Given the description of an element on the screen output the (x, y) to click on. 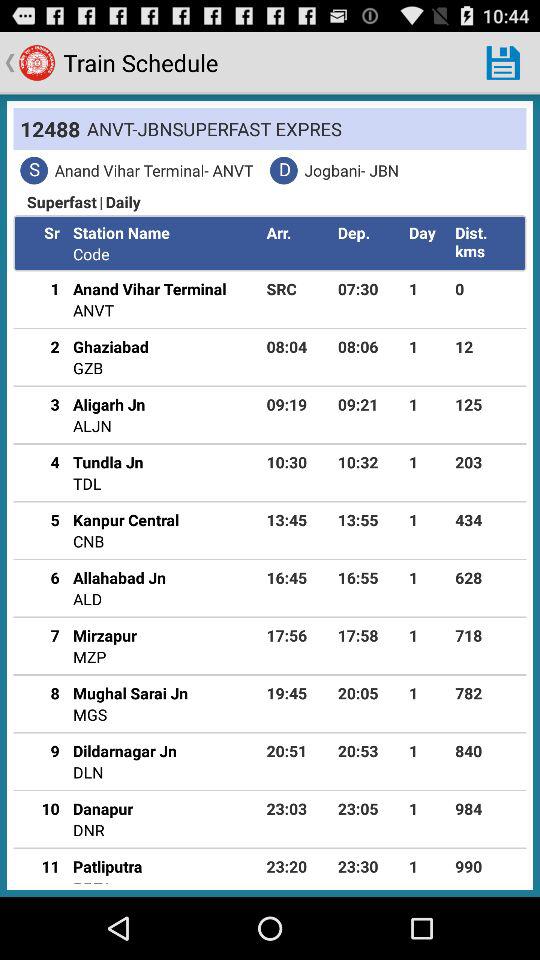
tap the item next to the 10:30 (87, 483)
